Given the description of an element on the screen output the (x, y) to click on. 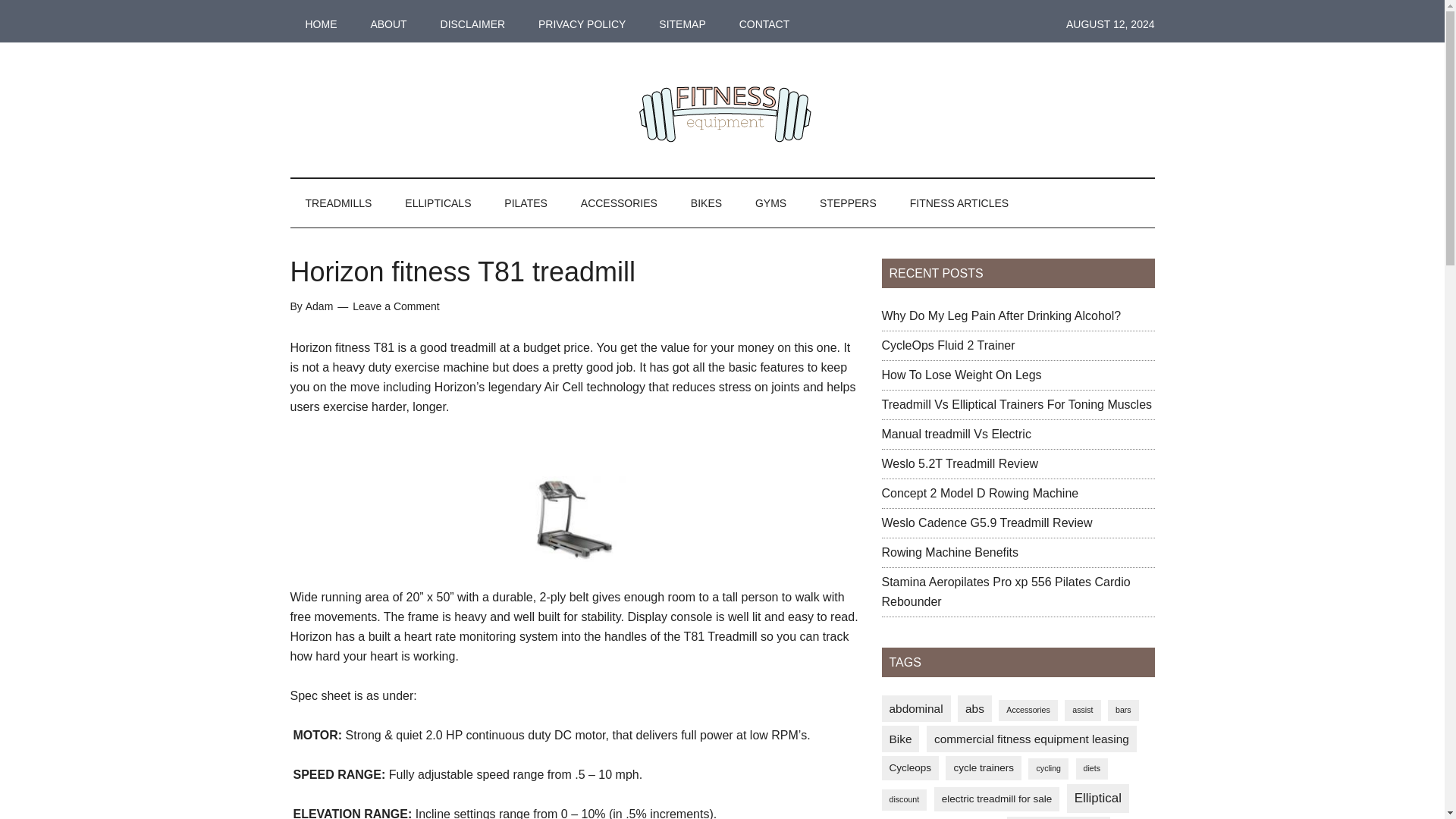
PILATES (525, 203)
assist (1082, 710)
abs (974, 708)
Weslo Cadence G5.9 Treadmill Review (986, 522)
SITEMAP (681, 24)
Rowing Machine Benefits (948, 552)
FITNESS ARTICLES (959, 203)
DISCLAIMER (473, 24)
ABOUT (388, 24)
BIKES (705, 203)
